Given the description of an element on the screen output the (x, y) to click on. 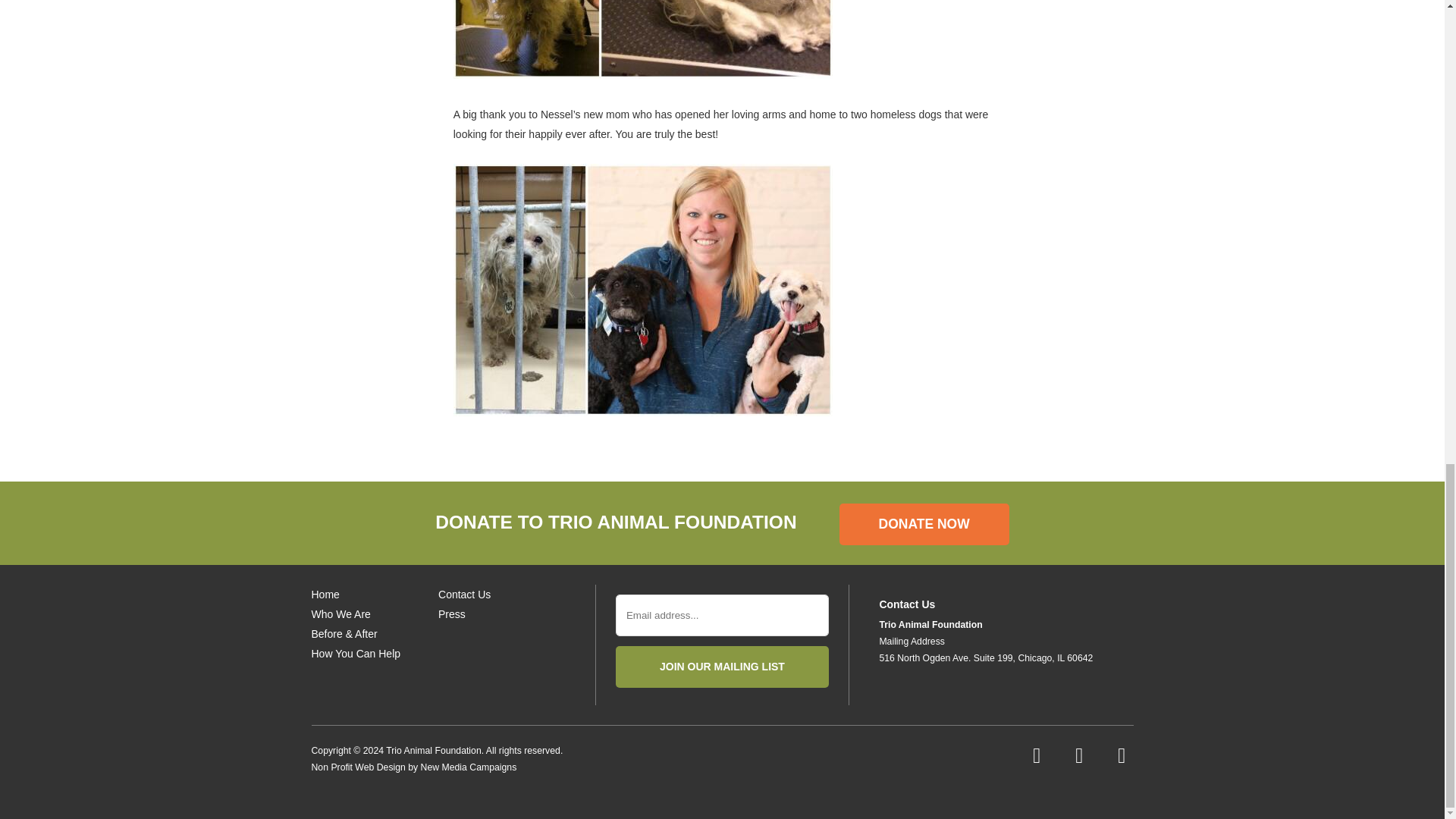
Who We Are (340, 613)
Non Profit Web Design (357, 767)
Join Our Mailing List (721, 666)
Contact Us (464, 594)
How You Can Help (355, 653)
Press (451, 613)
DONATE NOW (924, 524)
Home (325, 594)
Join Our Mailing List (721, 666)
